Given the description of an element on the screen output the (x, y) to click on. 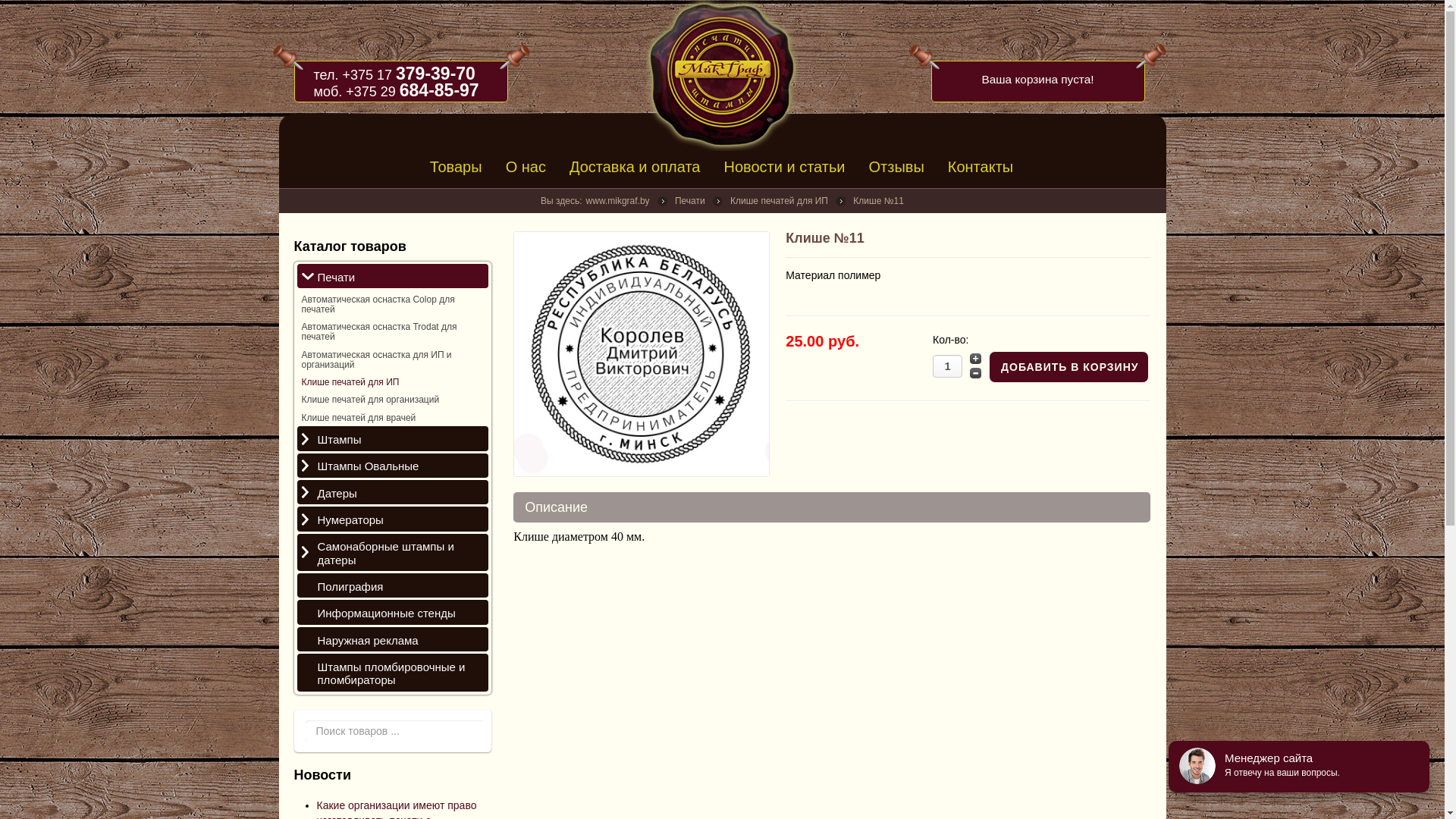
1127 Element type: hover (641, 353)
www.mikgraf.by Element type: text (617, 200)
